Given the description of an element on the screen output the (x, y) to click on. 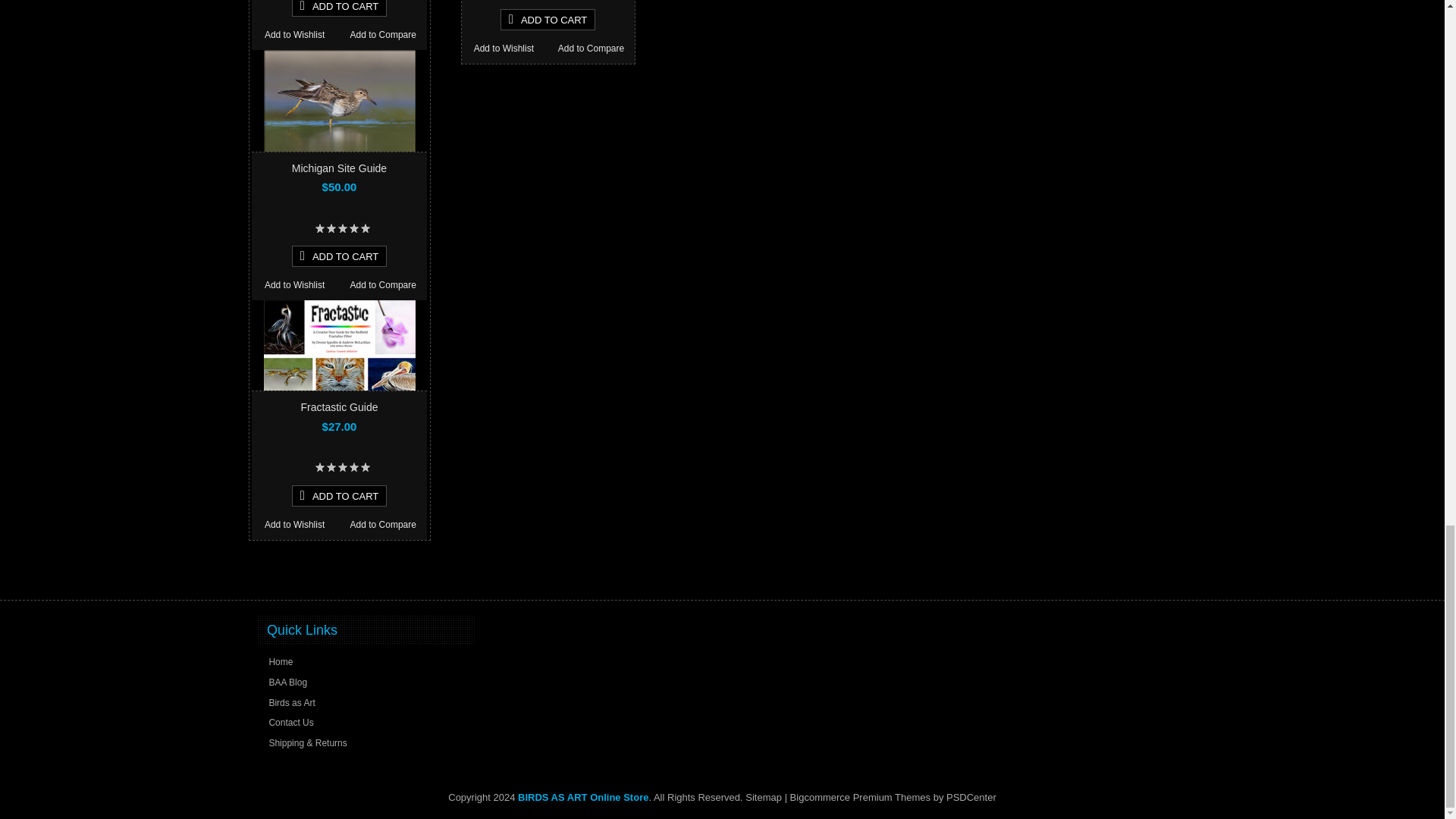
Scroll to Top (1176, 573)
